Given the description of an element on the screen output the (x, y) to click on. 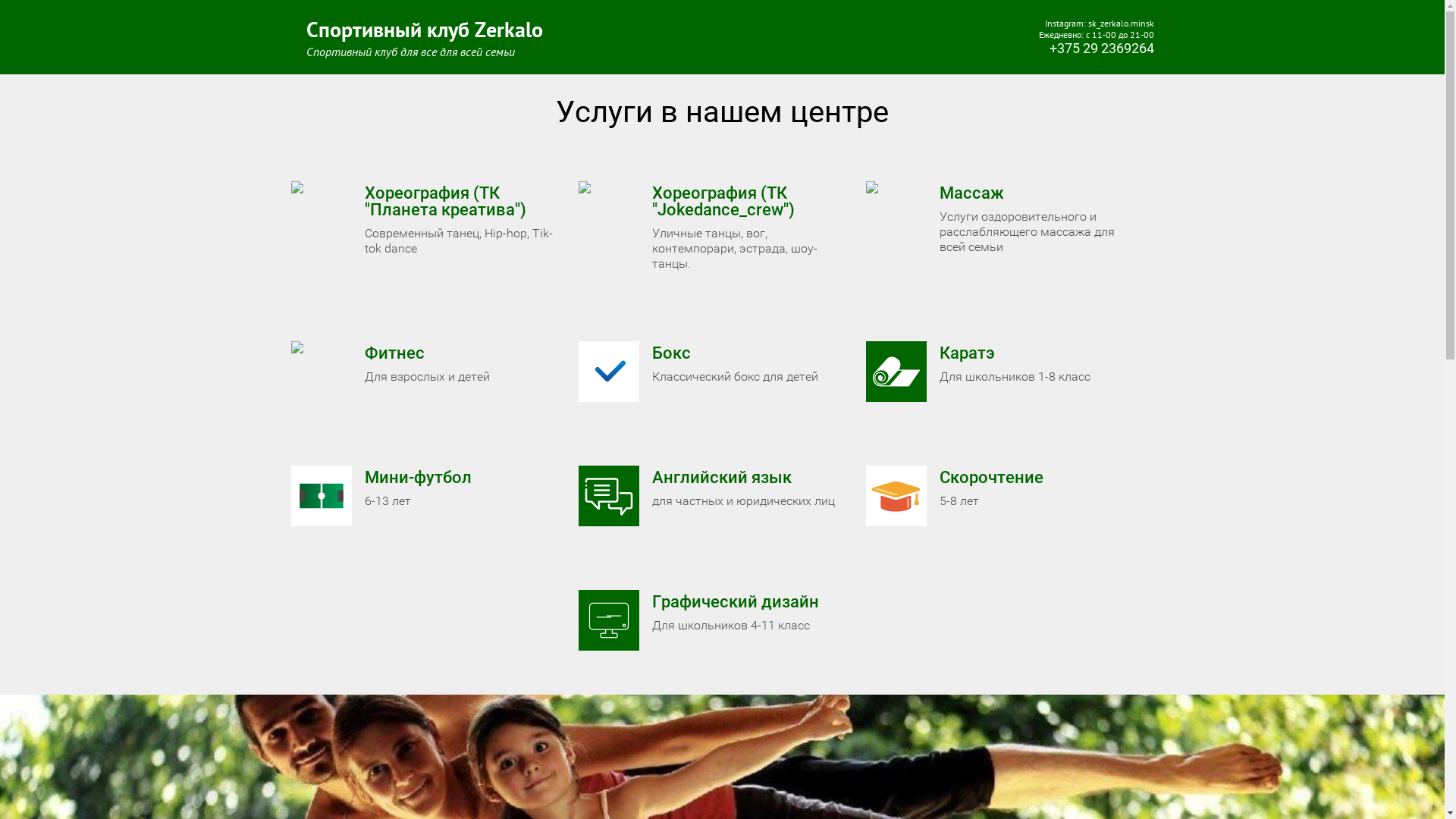
+375 29 2369264 Element type: text (1101, 48)
